Given the description of an element on the screen output the (x, y) to click on. 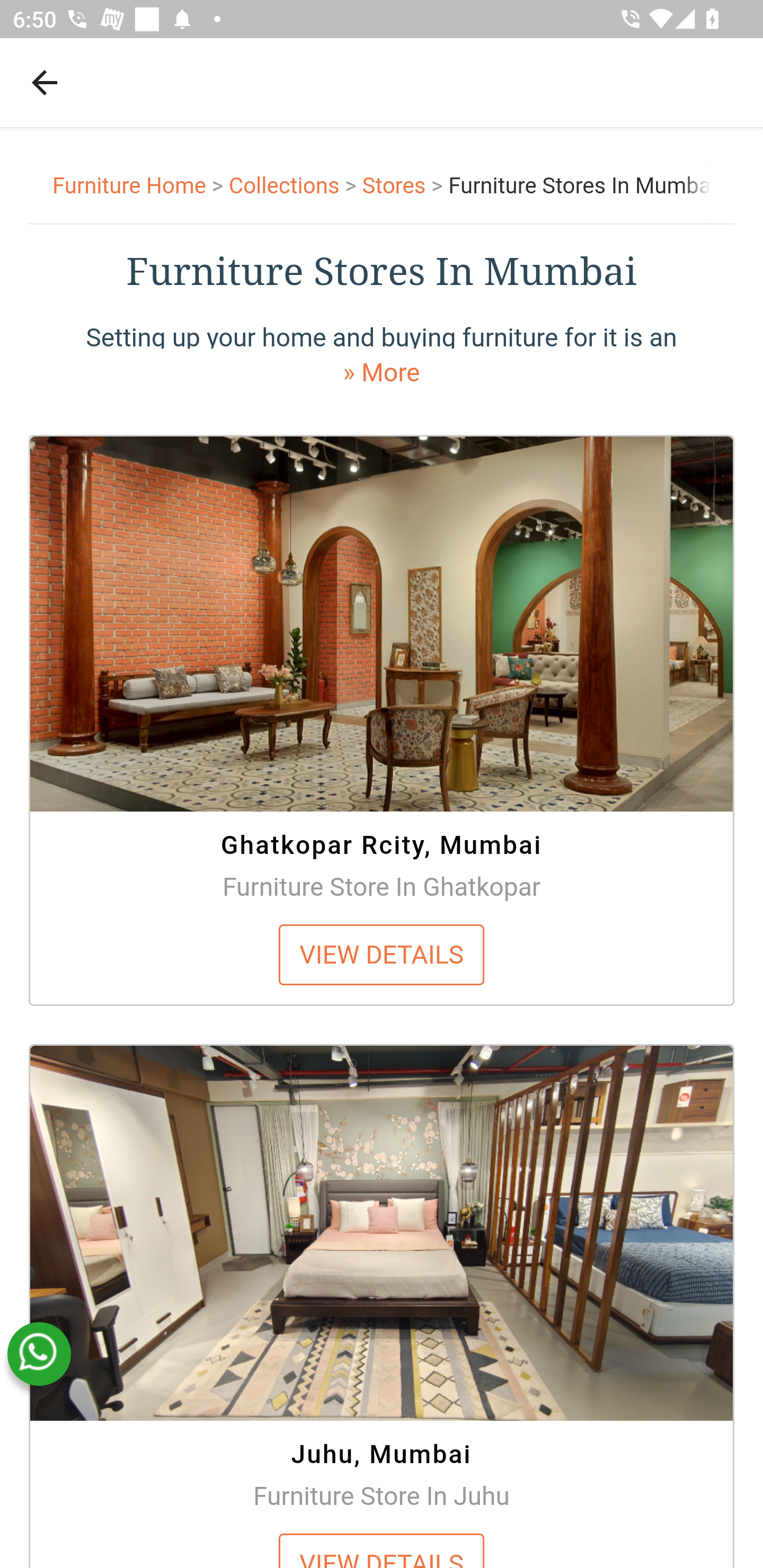
Navigate up (44, 82)
Furniture Home >  Furniture Home  >  (140, 186)
Collections >  Collections  >  (294, 186)
Stores >  Stores  >  (405, 186)
» More (381, 372)
VIEW DETAILS (381, 953)
whatsapp (38, 1353)
